Given the description of an element on the screen output the (x, y) to click on. 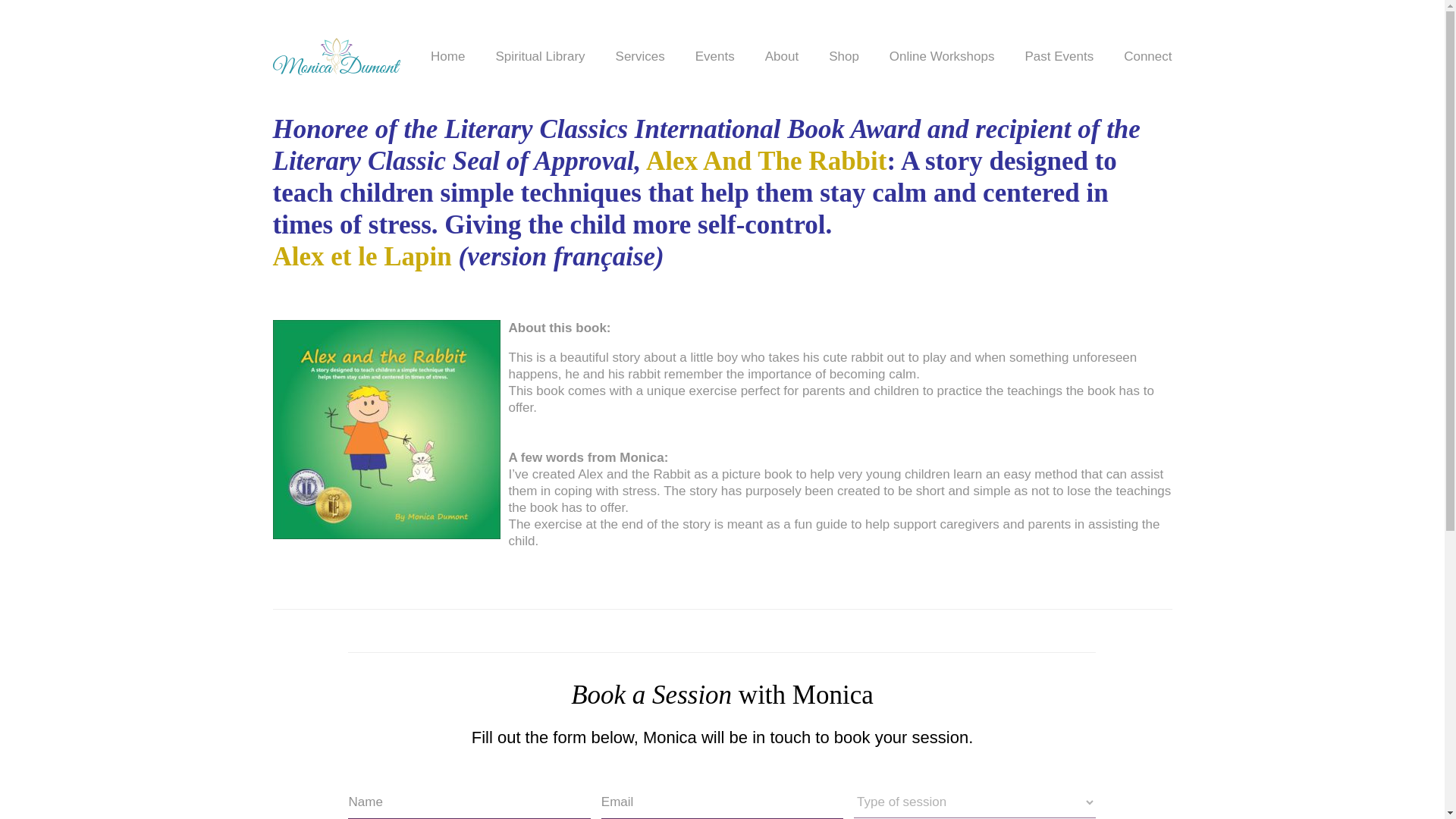
About (781, 55)
Events (715, 55)
Home (447, 55)
Past Events (1059, 55)
Spiritual Library (540, 55)
Connect (1148, 55)
Services (640, 55)
Shop (843, 55)
Online Workshops (941, 55)
Send (32, 16)
